Given the description of an element on the screen output the (x, y) to click on. 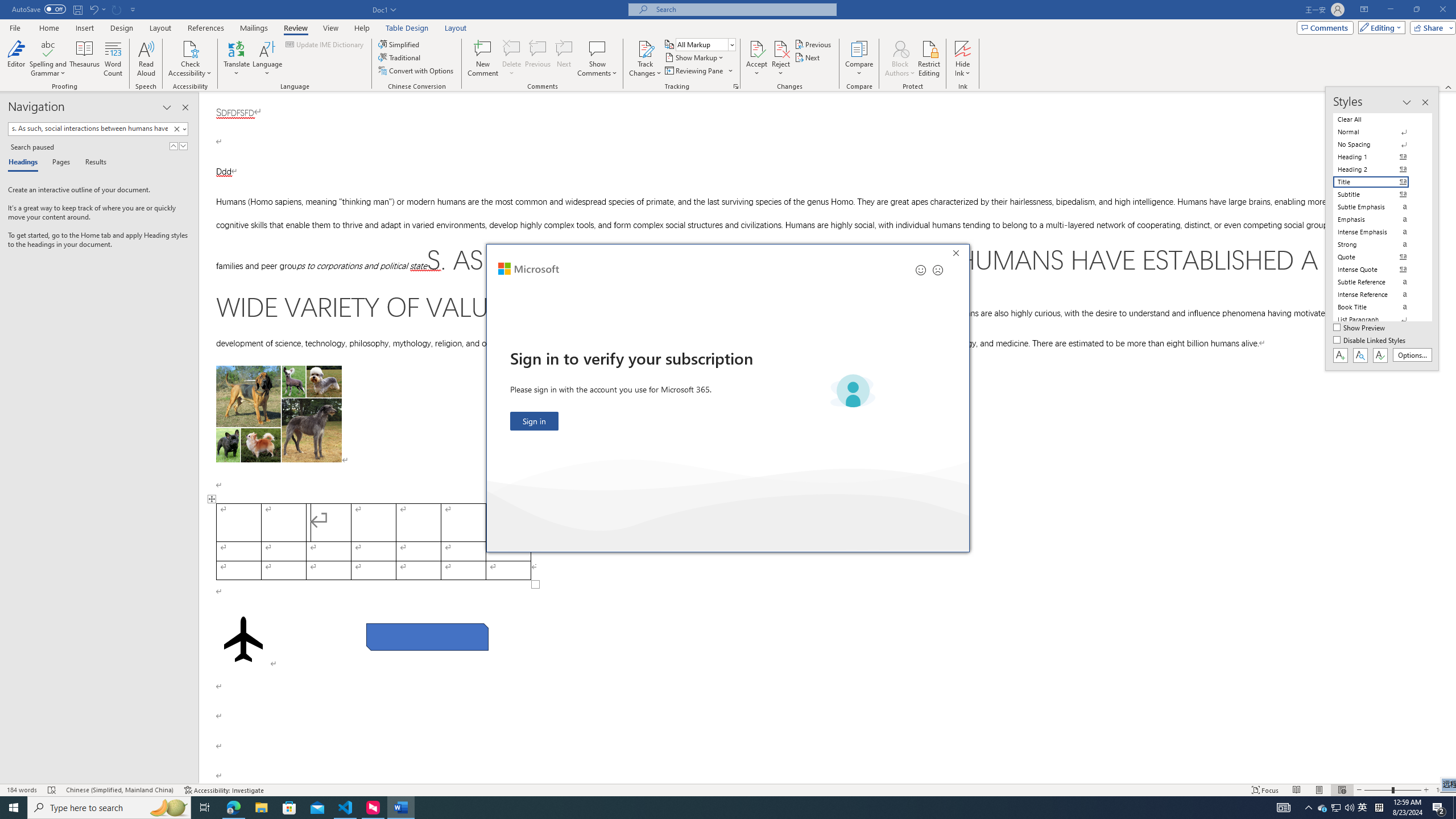
Block Authors (900, 58)
Next (808, 56)
Rectangle: Diagonal Corners Snipped 2 (427, 636)
Hide Ink (962, 48)
Display for Review (705, 44)
Intense Reference (1377, 294)
Previous Result (173, 145)
